Given the description of an element on the screen output the (x, y) to click on. 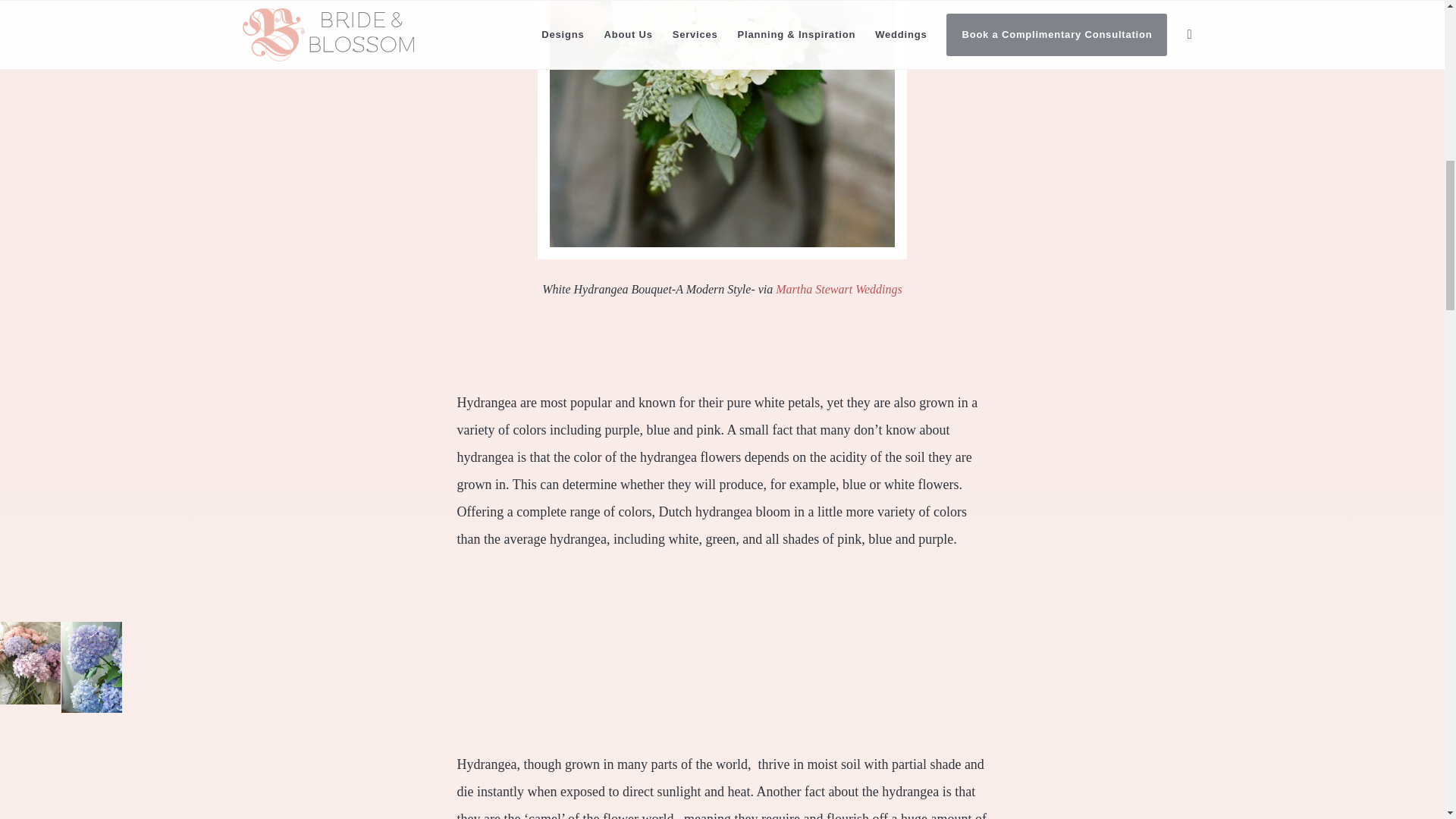
Martha Stewart Weddings (839, 288)
